Given the description of an element on the screen output the (x, y) to click on. 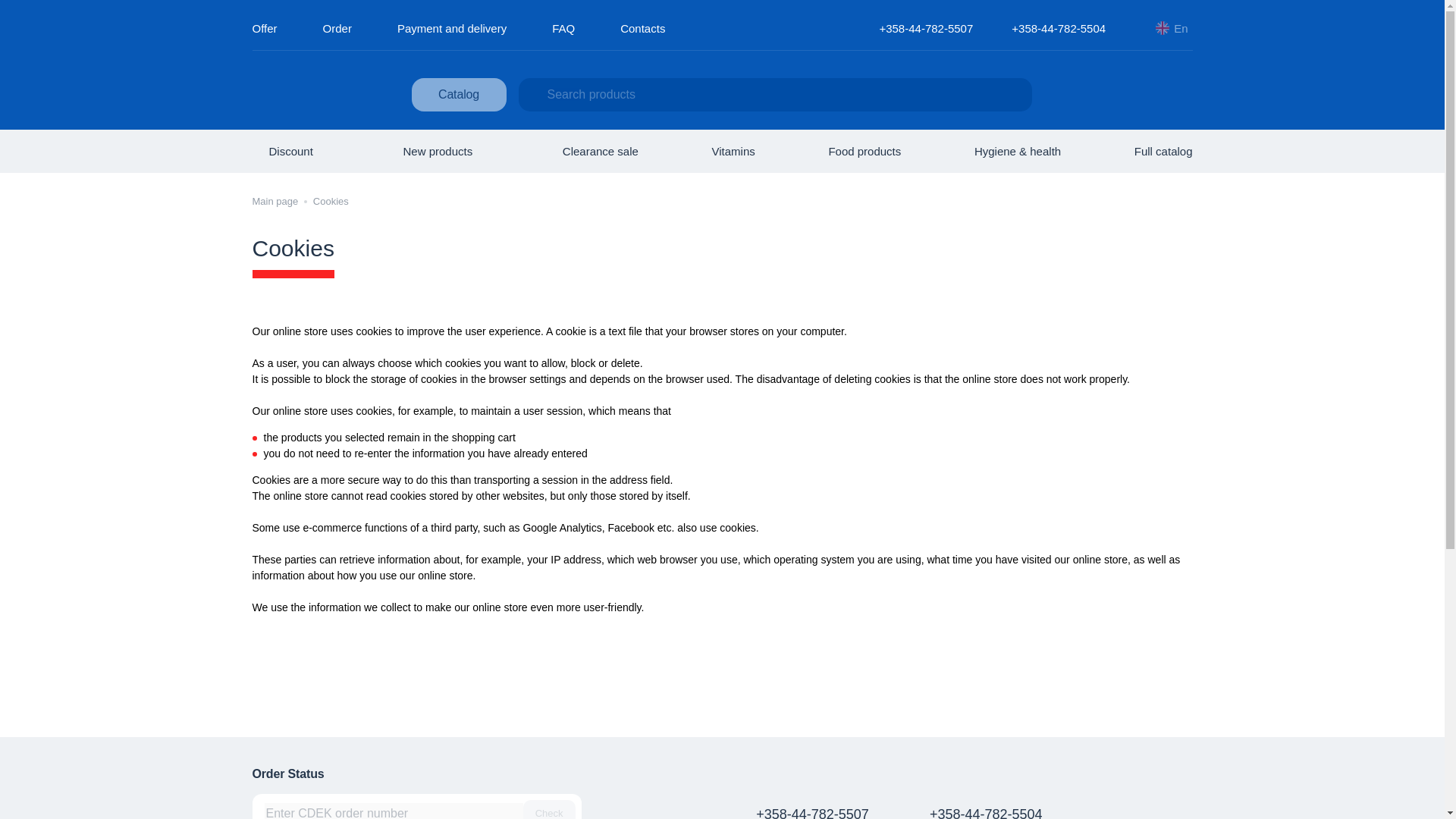
Order (337, 27)
En (1171, 27)
Offer (263, 27)
Payment and delivery (451, 27)
FAQ (563, 27)
Contacts (642, 27)
Catalog (457, 94)
